Given the description of an element on the screen output the (x, y) to click on. 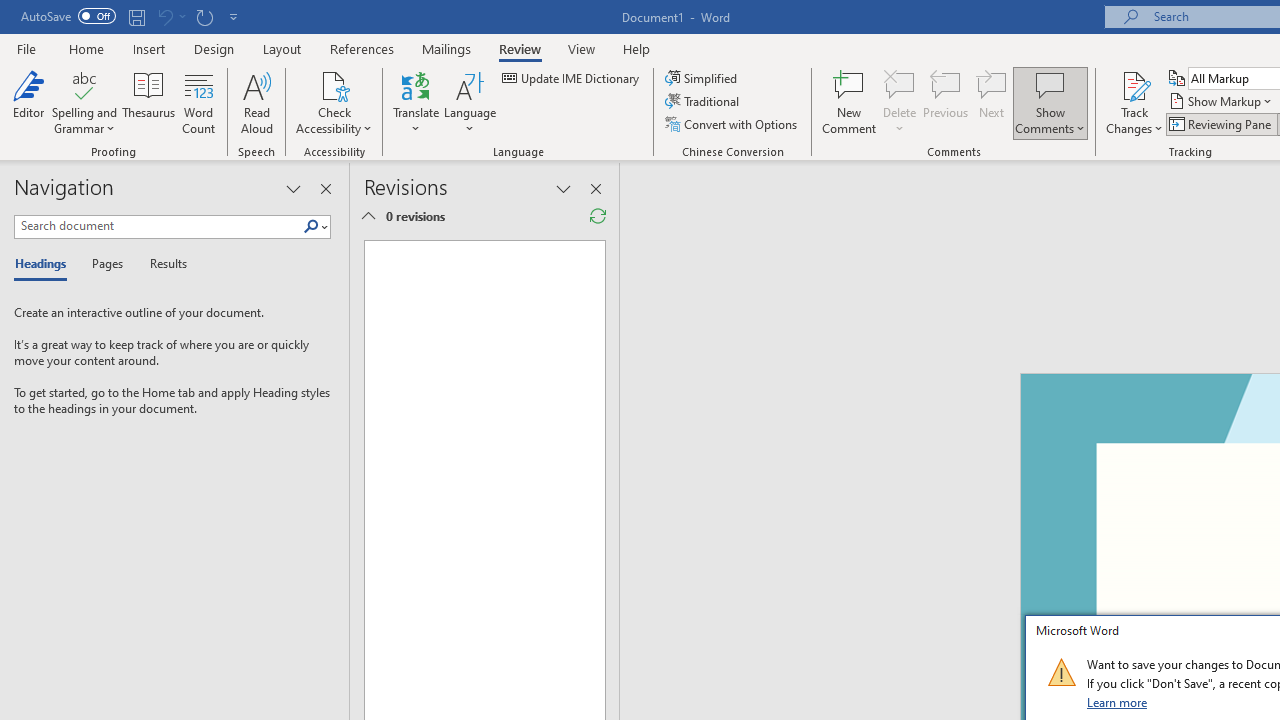
Close pane (325, 188)
Insert (149, 48)
Can't Undo (170, 15)
Layout (282, 48)
Track Changes (1134, 84)
File Tab (26, 48)
References (362, 48)
Show Comments (1050, 84)
Reviewing Pane (1221, 124)
AutoSave (68, 16)
Learn more (1118, 702)
Quick Access Toolbar (131, 16)
Word Count (198, 102)
Editor (28, 102)
System (10, 11)
